Given the description of an element on the screen output the (x, y) to click on. 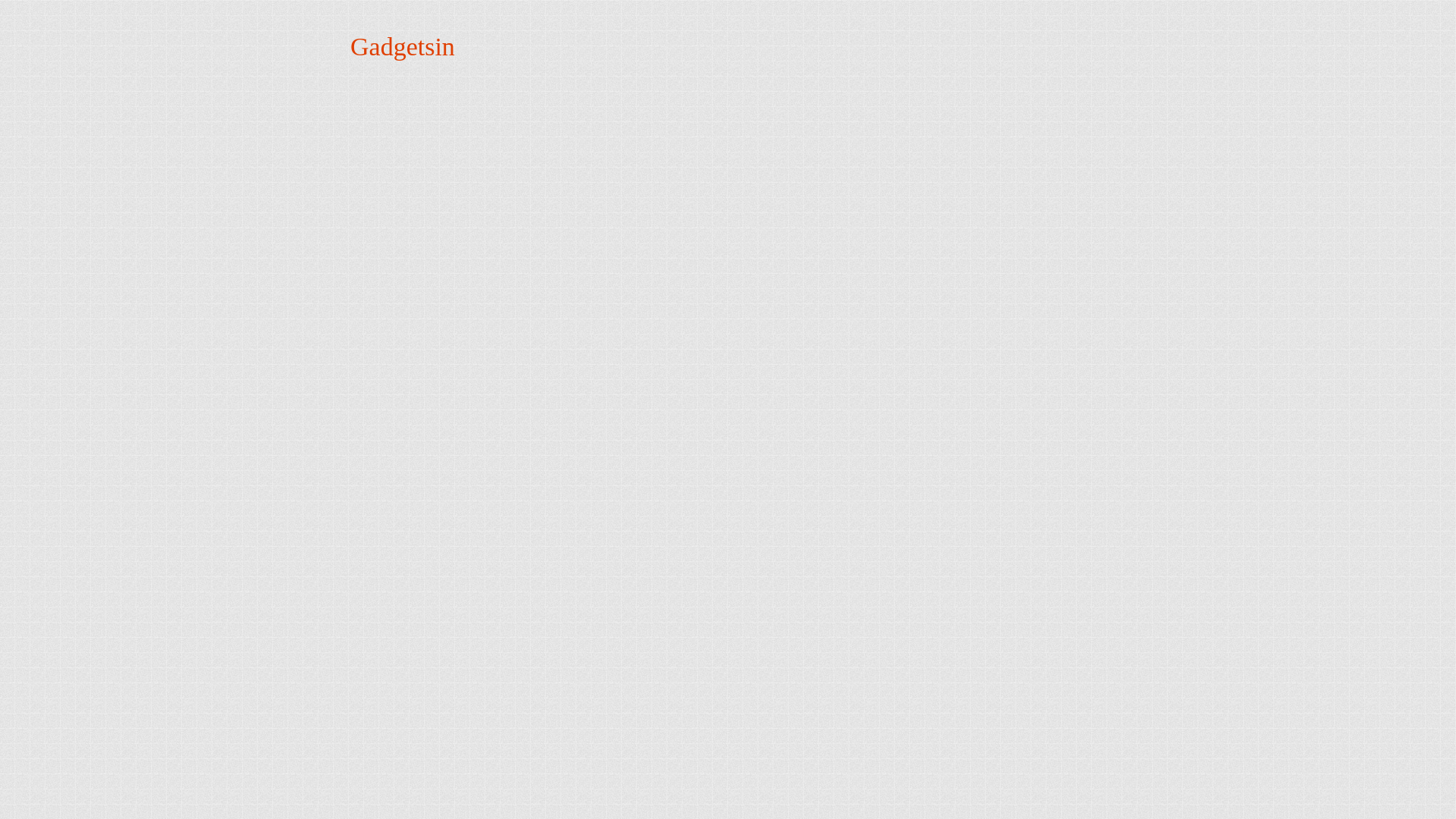
Gadgetsin (402, 46)
